Given the description of an element on the screen output the (x, y) to click on. 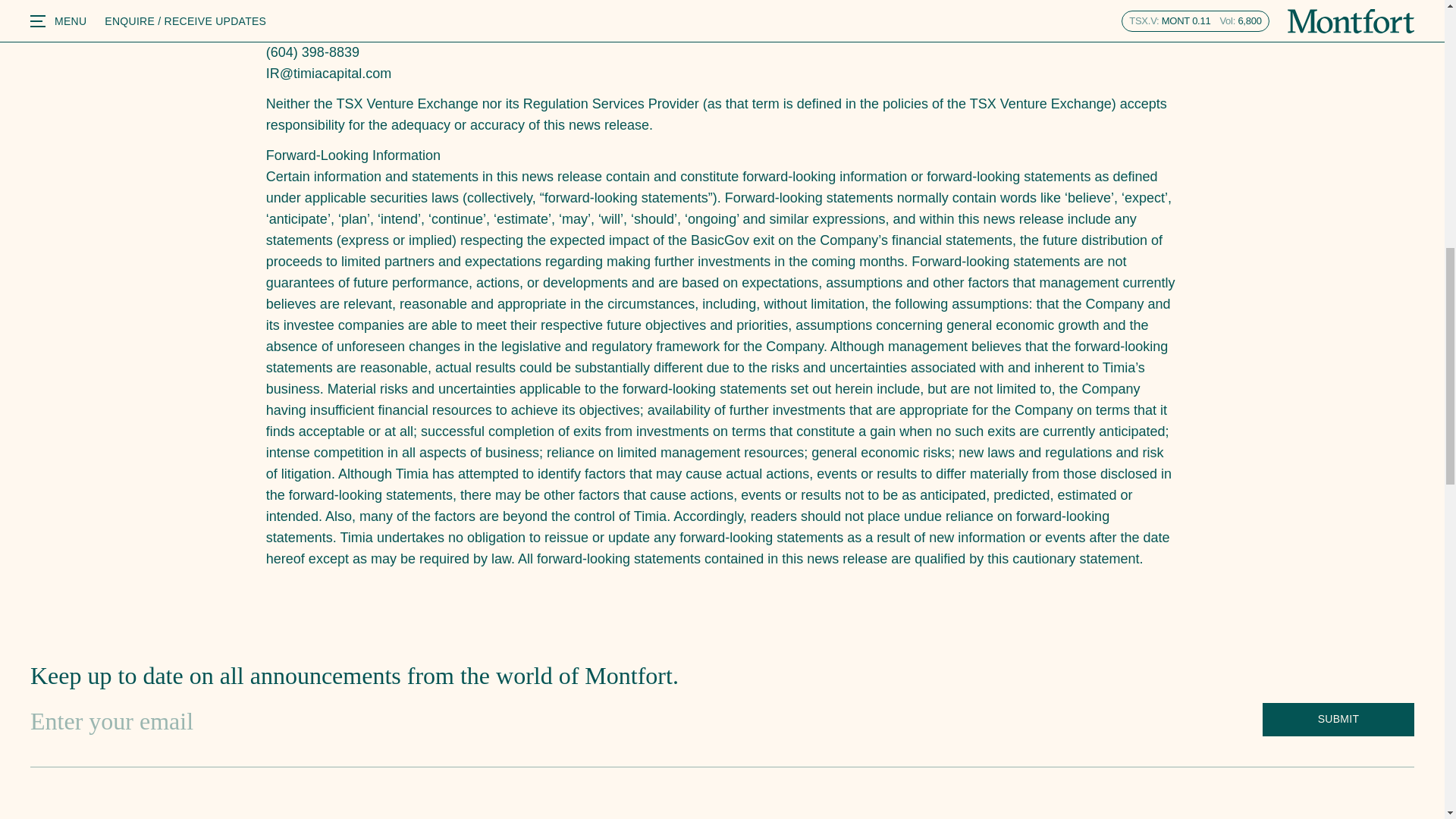
SUBMIT (1337, 719)
